Given the description of an element on the screen output the (x, y) to click on. 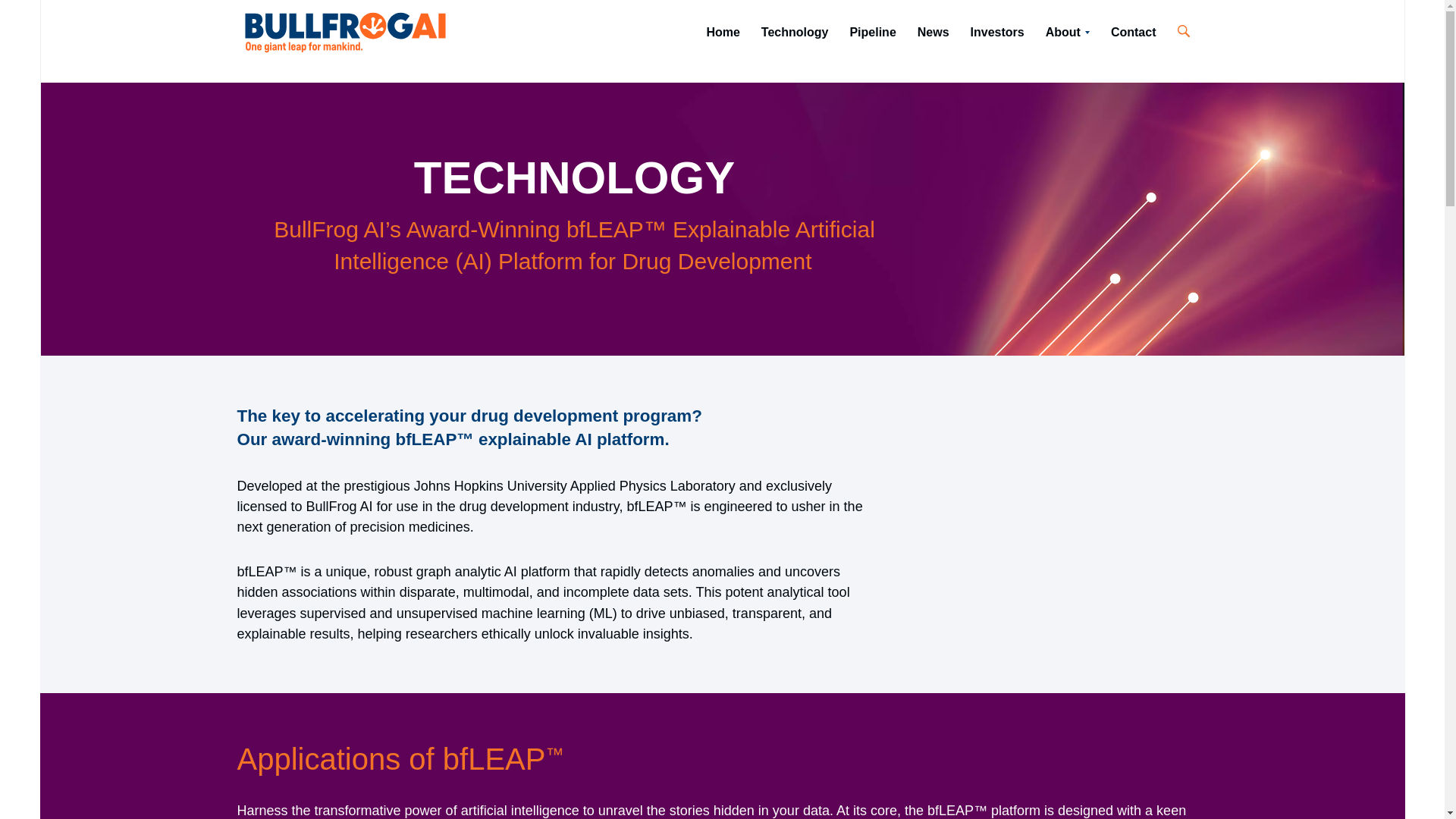
Home (722, 32)
Pipeline (871, 32)
Open Search (1182, 30)
Contact (1133, 32)
Investors (997, 32)
About (1067, 32)
News (933, 32)
Technology (795, 32)
